Given the description of an element on the screen output the (x, y) to click on. 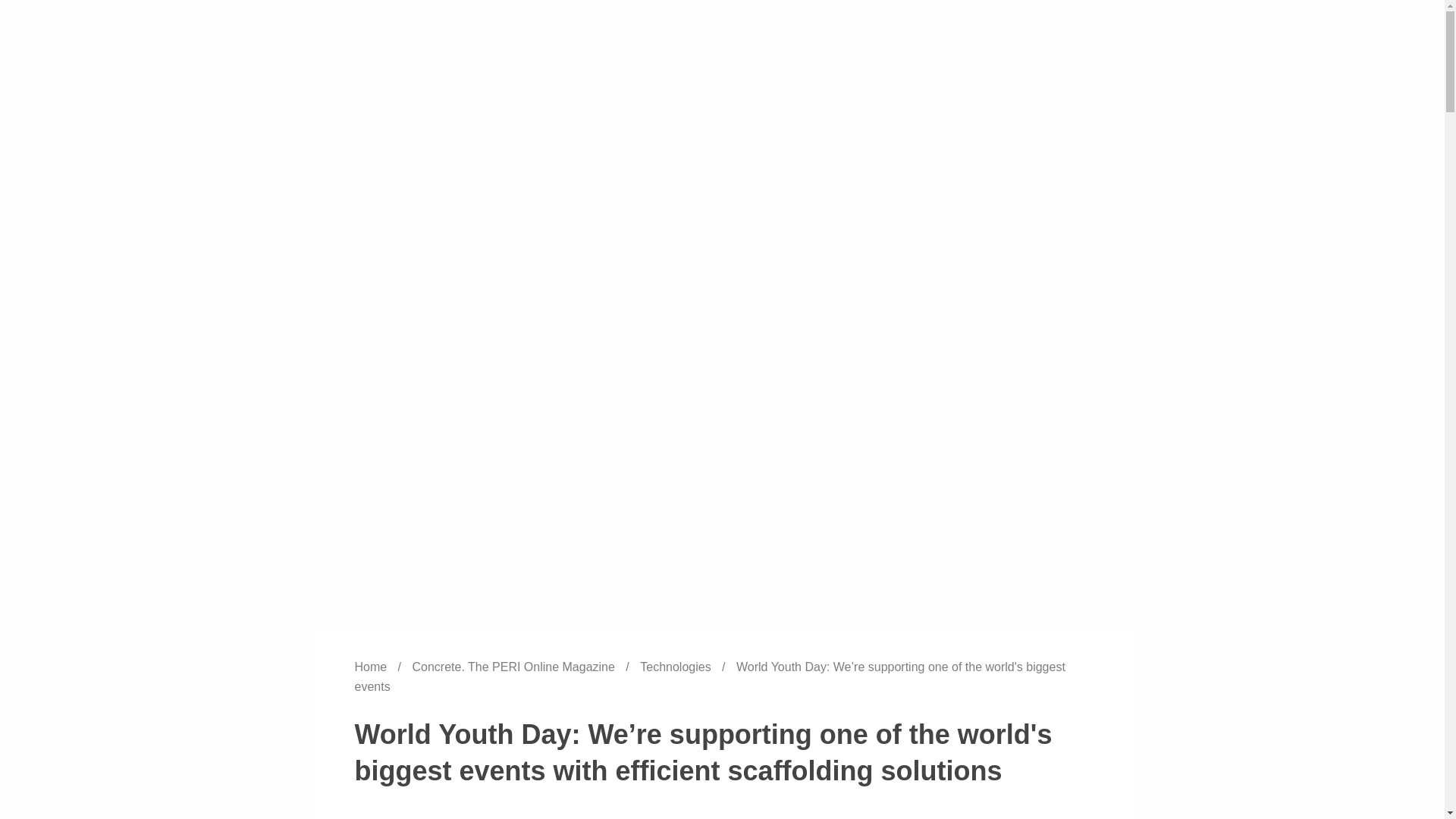
Technologies (677, 666)
Concrete. The PERI Online Magazine (515, 666)
Home (371, 666)
